Given the description of an element on the screen output the (x, y) to click on. 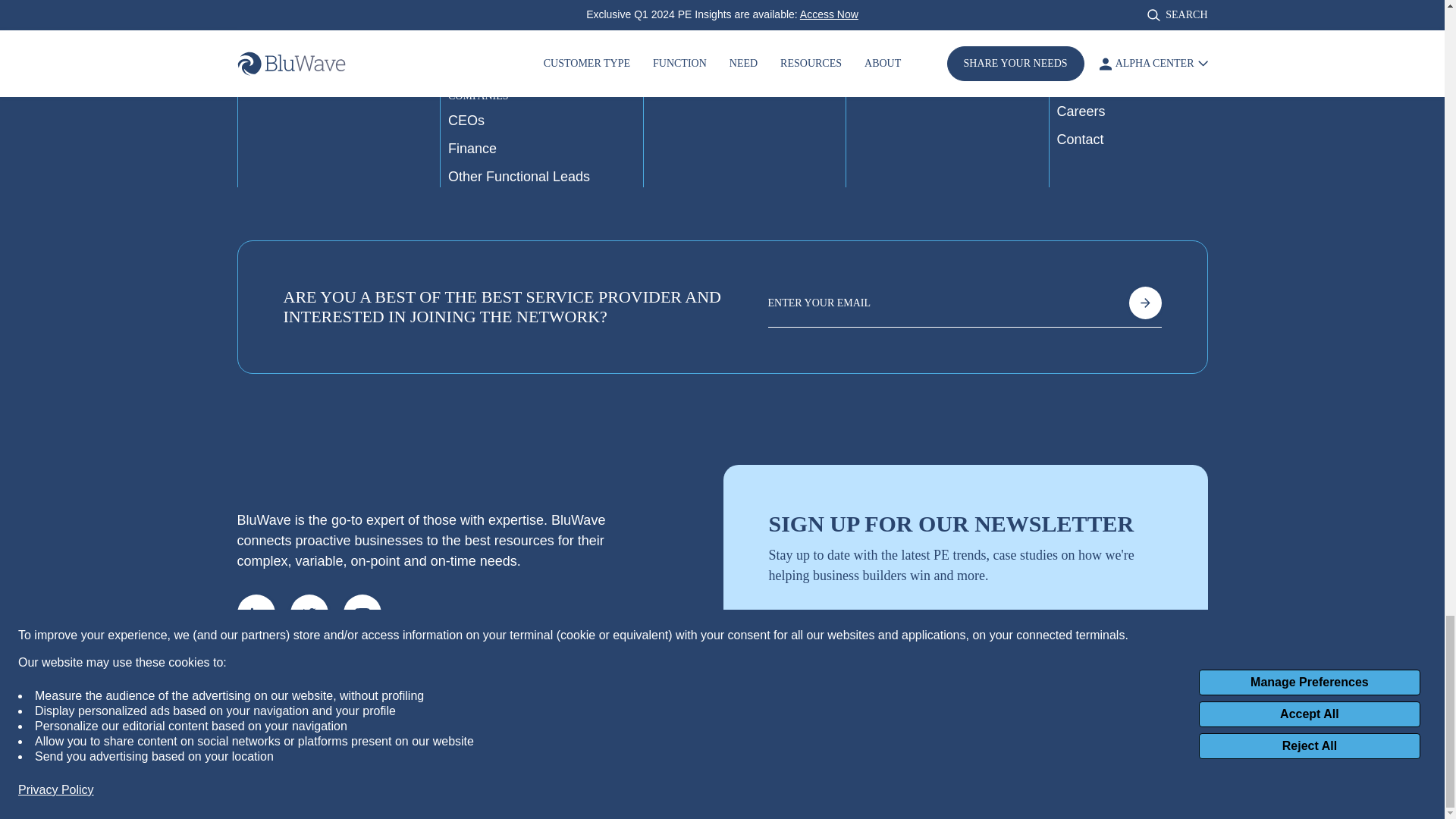
Send (1145, 632)
Send (1144, 302)
